Given the description of an element on the screen output the (x, y) to click on. 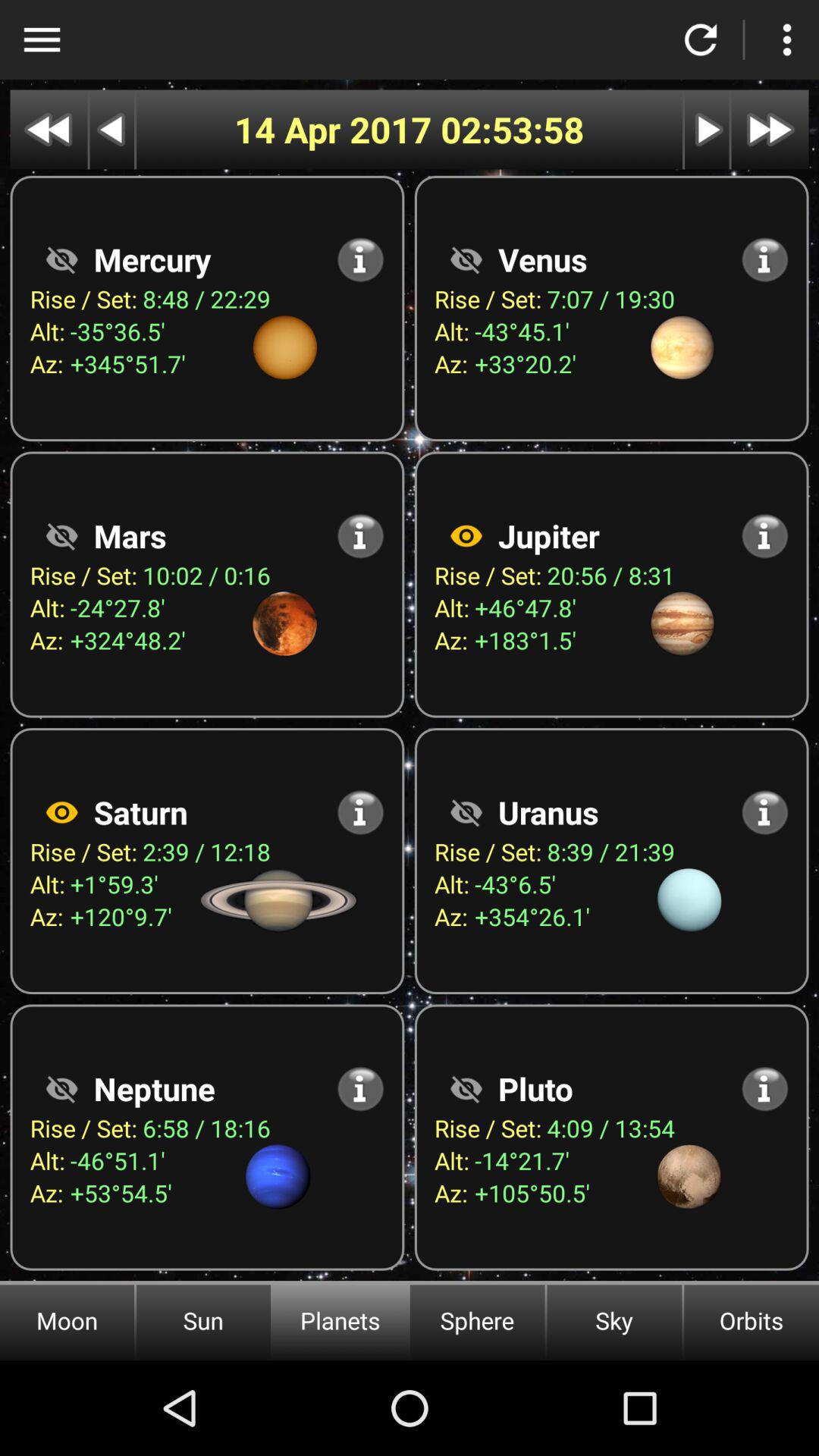
refresh (700, 39)
